Given the description of an element on the screen output the (x, y) to click on. 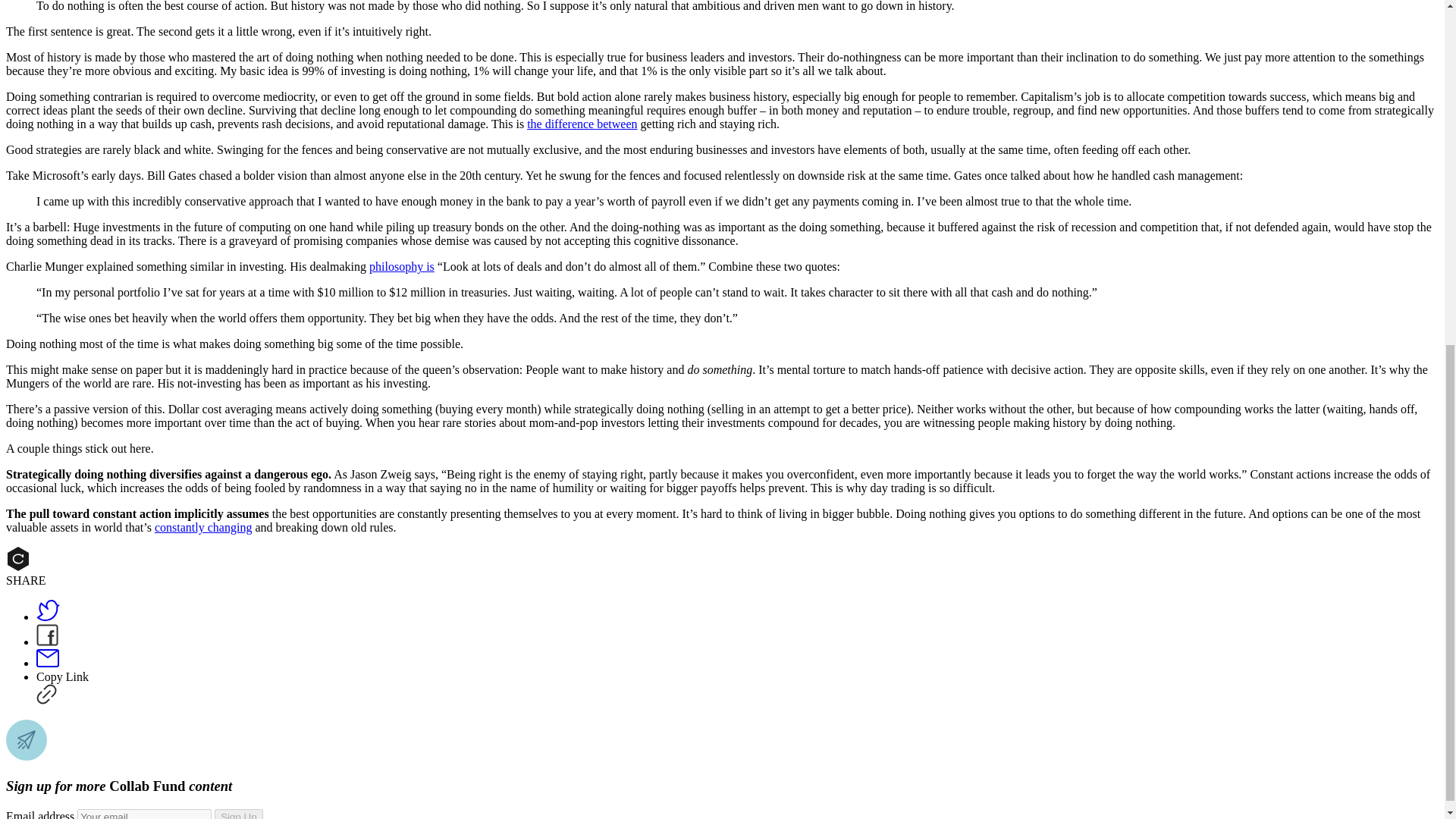
constantly changing (202, 526)
Share on Facebook (47, 641)
Email this article (47, 662)
philosophy is (401, 266)
Share on Twitter (47, 616)
the difference between (582, 123)
